Given the description of an element on the screen output the (x, y) to click on. 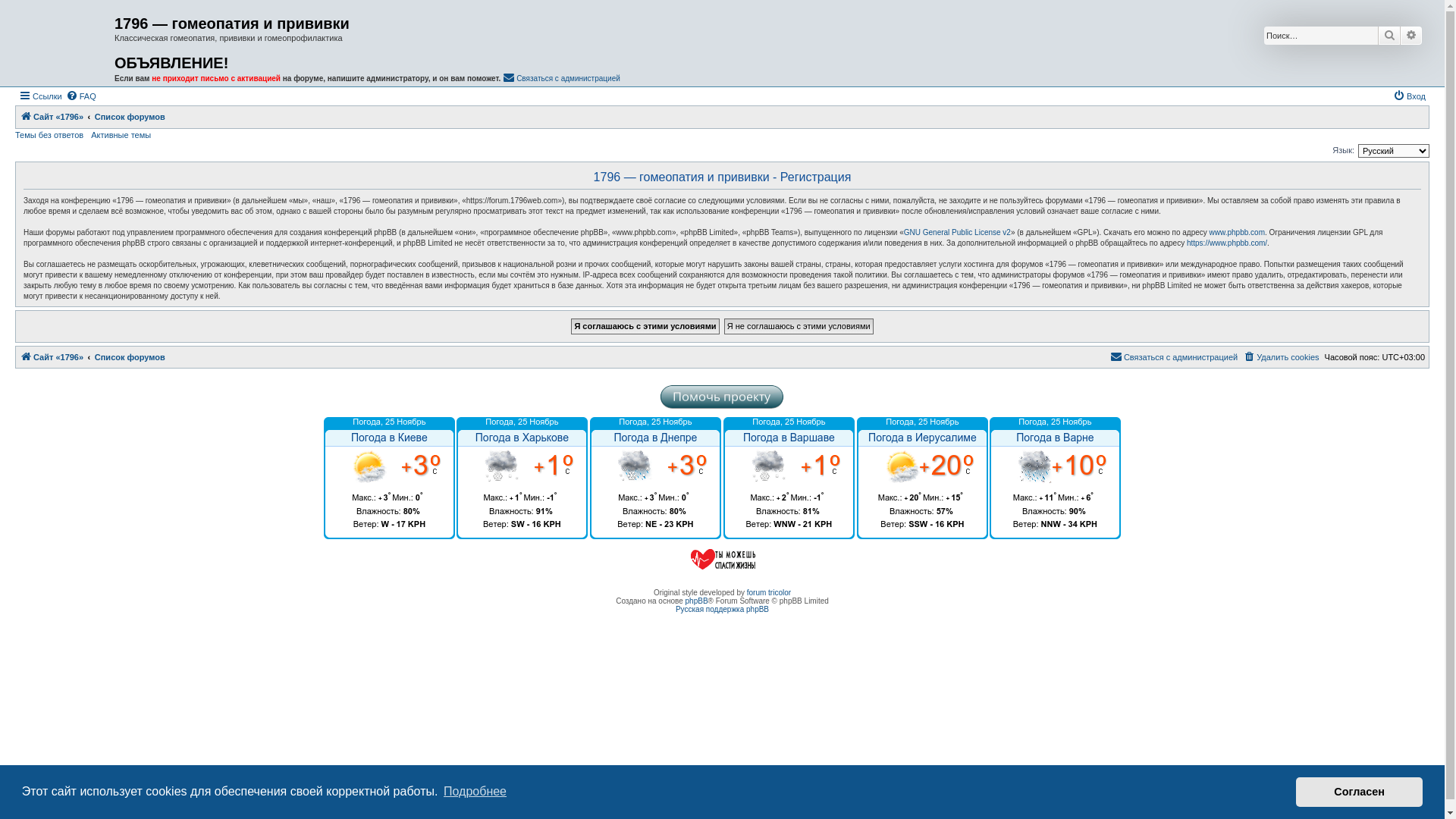
https://www.phpbb.com/ Element type: text (1226, 243)
FAQ Element type: text (80, 96)
GNU General Public License v2 Element type: text (956, 232)
phpBB Element type: text (696, 600)
forum tricolor Element type: text (768, 592)
www.phpbb.com Element type: text (1236, 232)
